Given the description of an element on the screen output the (x, y) to click on. 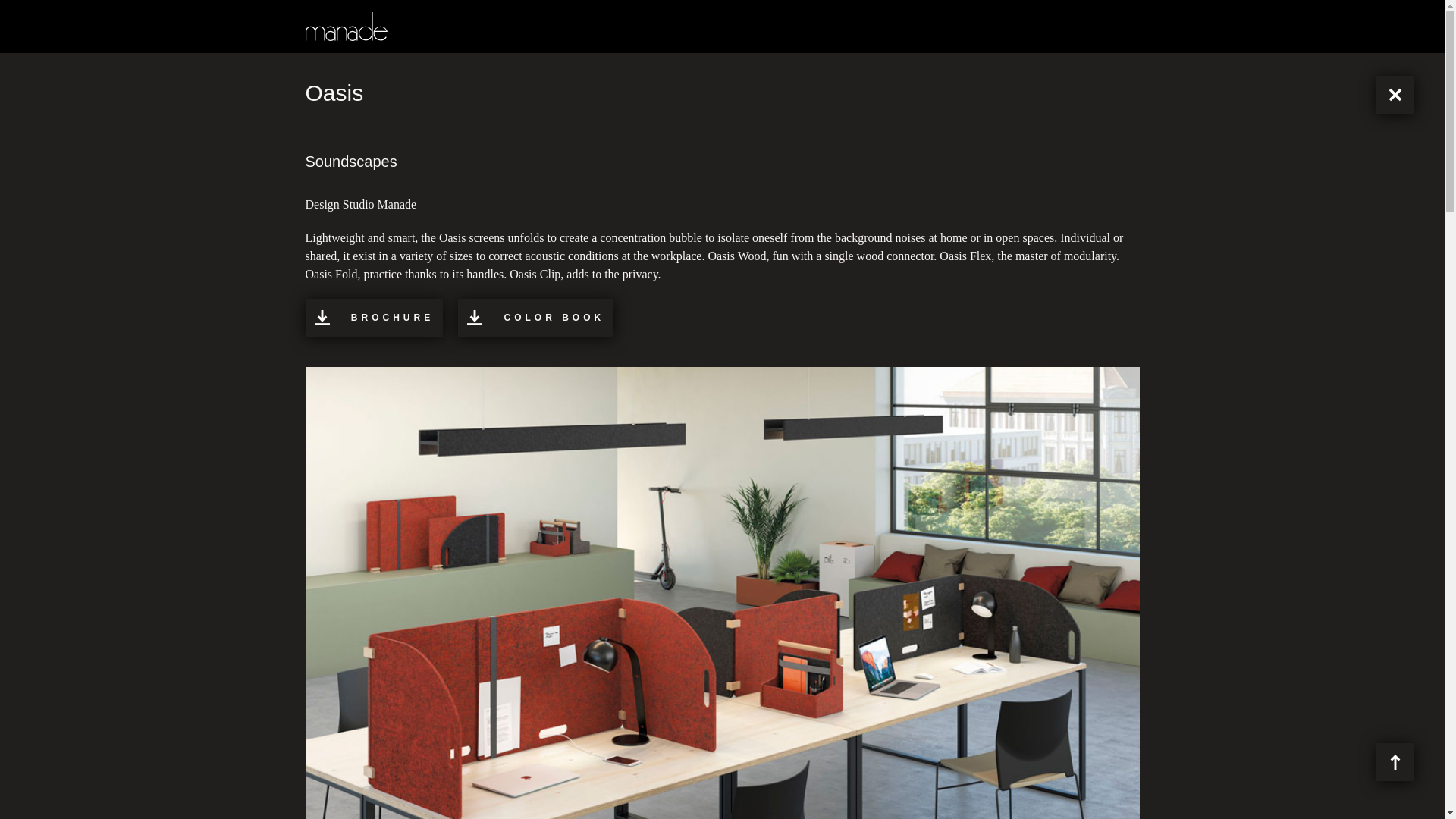
Manade (345, 26)
 BROCHURE (373, 317)
 COLOR BOOK (535, 317)
